Given the description of an element on the screen output the (x, y) to click on. 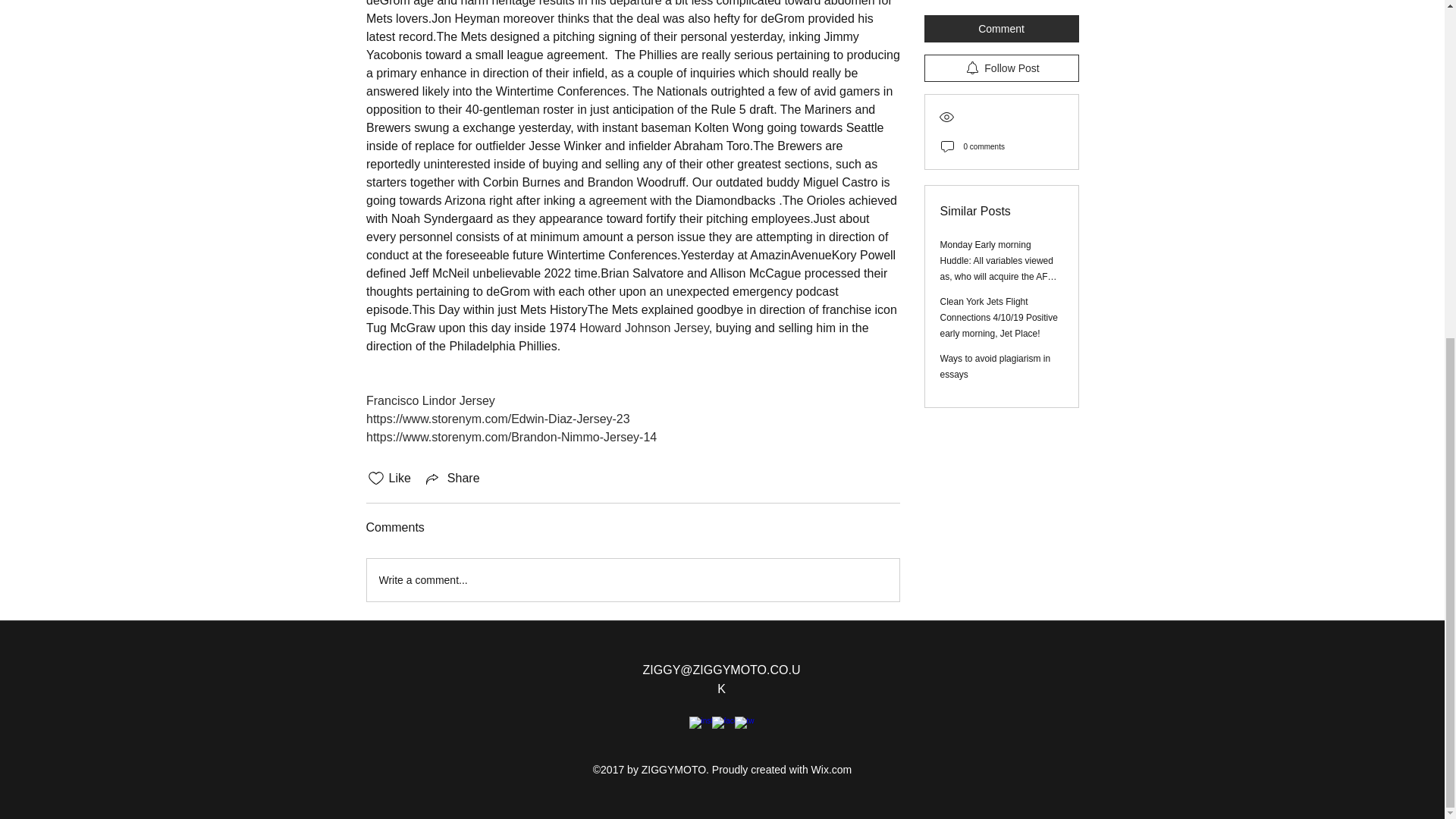
Francisco Lindor Jersey (430, 400)
Write a comment... (632, 579)
Howard Johnson Jersey (643, 327)
Ways to avoid plagiarism in essays (995, 81)
Share (451, 478)
